Given the description of an element on the screen output the (x, y) to click on. 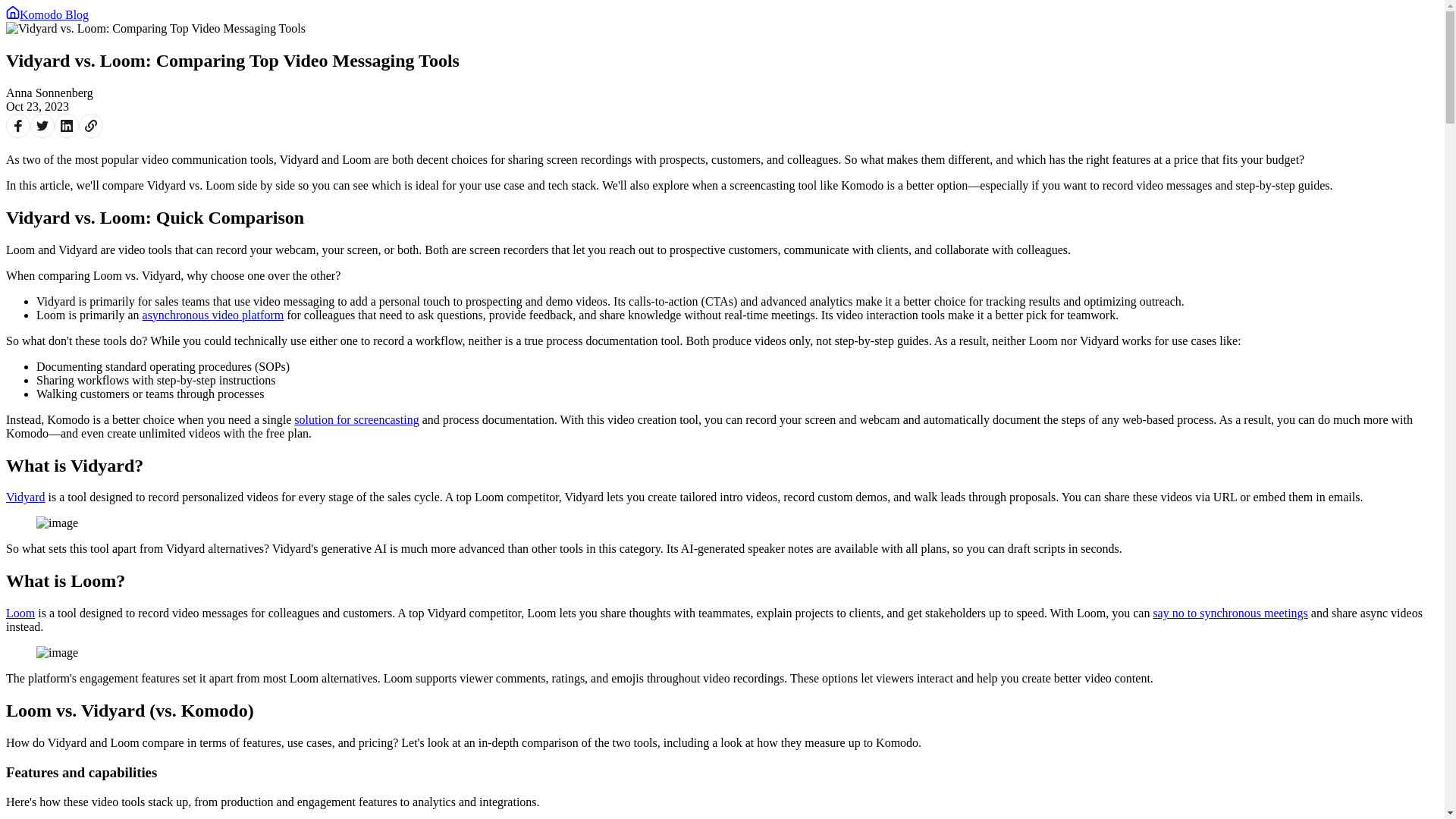
asynchronous video platform (212, 314)
Komodo Blog (46, 14)
Vidyard (25, 496)
Loom (19, 612)
say no to synchronous meetings (1230, 612)
solution for screencasting (356, 419)
